Given the description of an element on the screen output the (x, y) to click on. 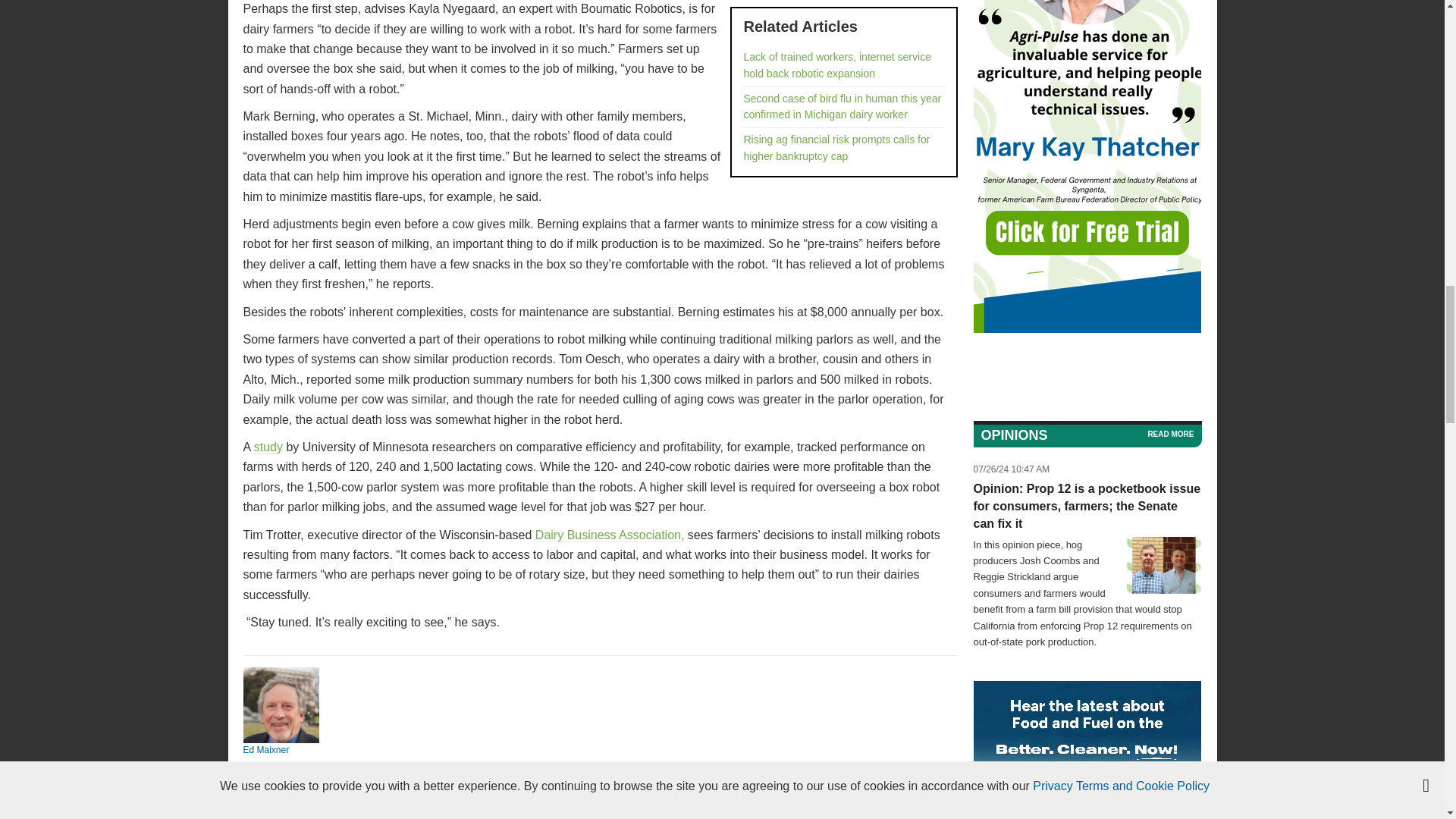
3rd party ad content (1087, 749)
